Given the description of an element on the screen output the (x, y) to click on. 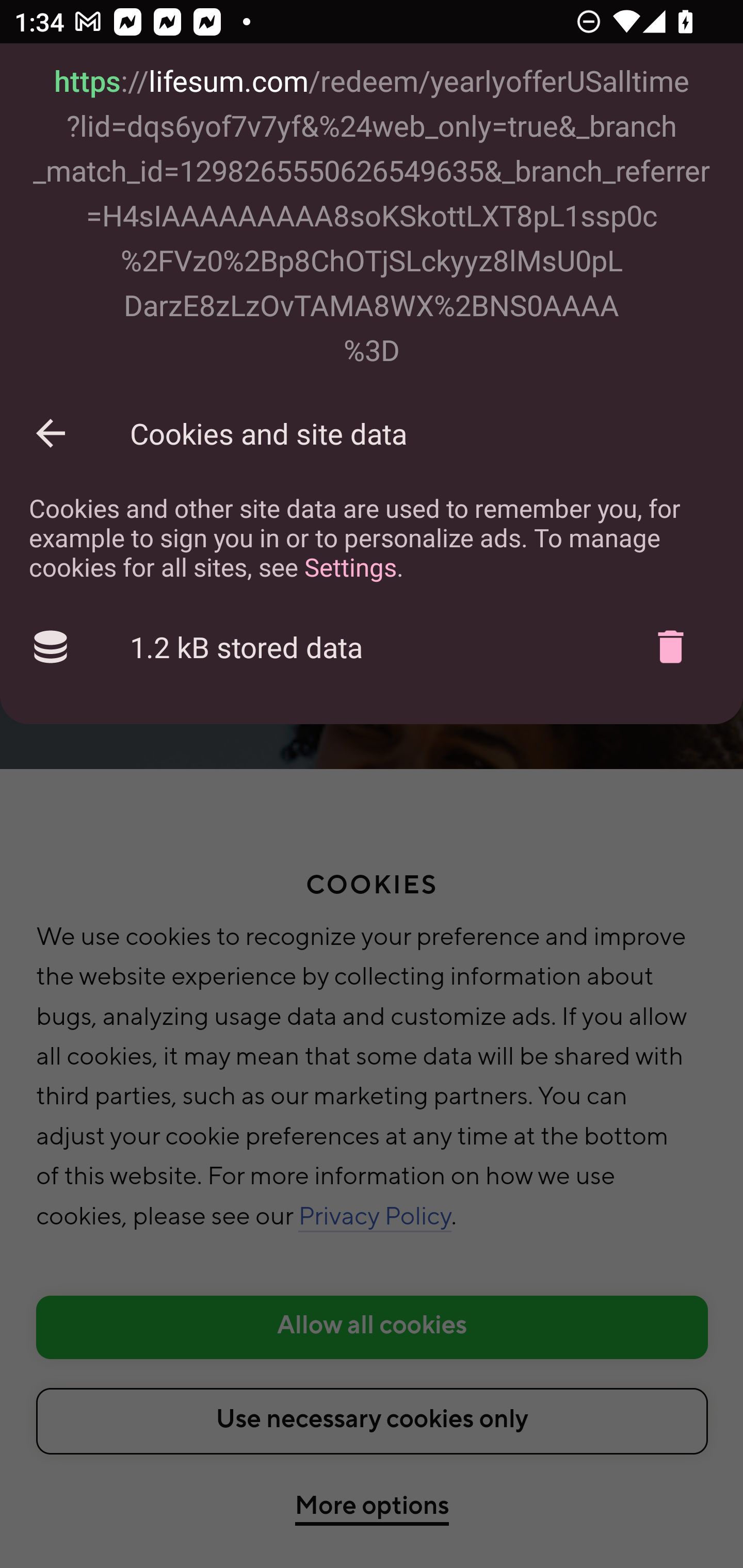
Back (50, 433)
1.2 kB stored data Delete cookies? (371, 646)
